Given the description of an element on the screen output the (x, y) to click on. 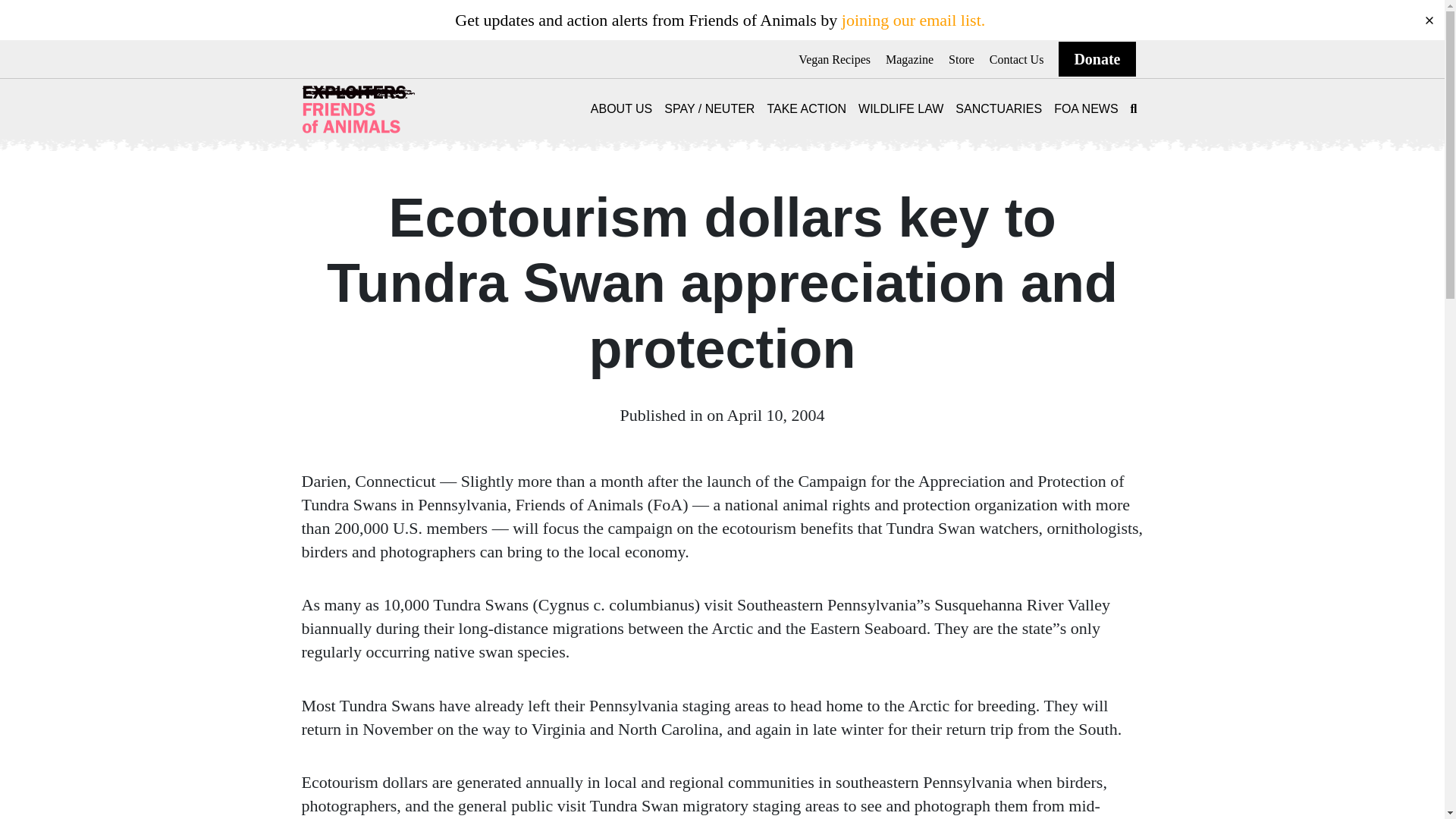
FOA NEWS (1086, 108)
Donate (1096, 58)
Vegan Recipes (833, 59)
Store (961, 59)
ABOUT US (621, 108)
SANCTUARIES (998, 108)
TAKE ACTION (806, 108)
Magazine (909, 59)
joining our email list. (913, 19)
WILDLIFE LAW (901, 108)
Contact Us (1016, 59)
